Given the description of an element on the screen output the (x, y) to click on. 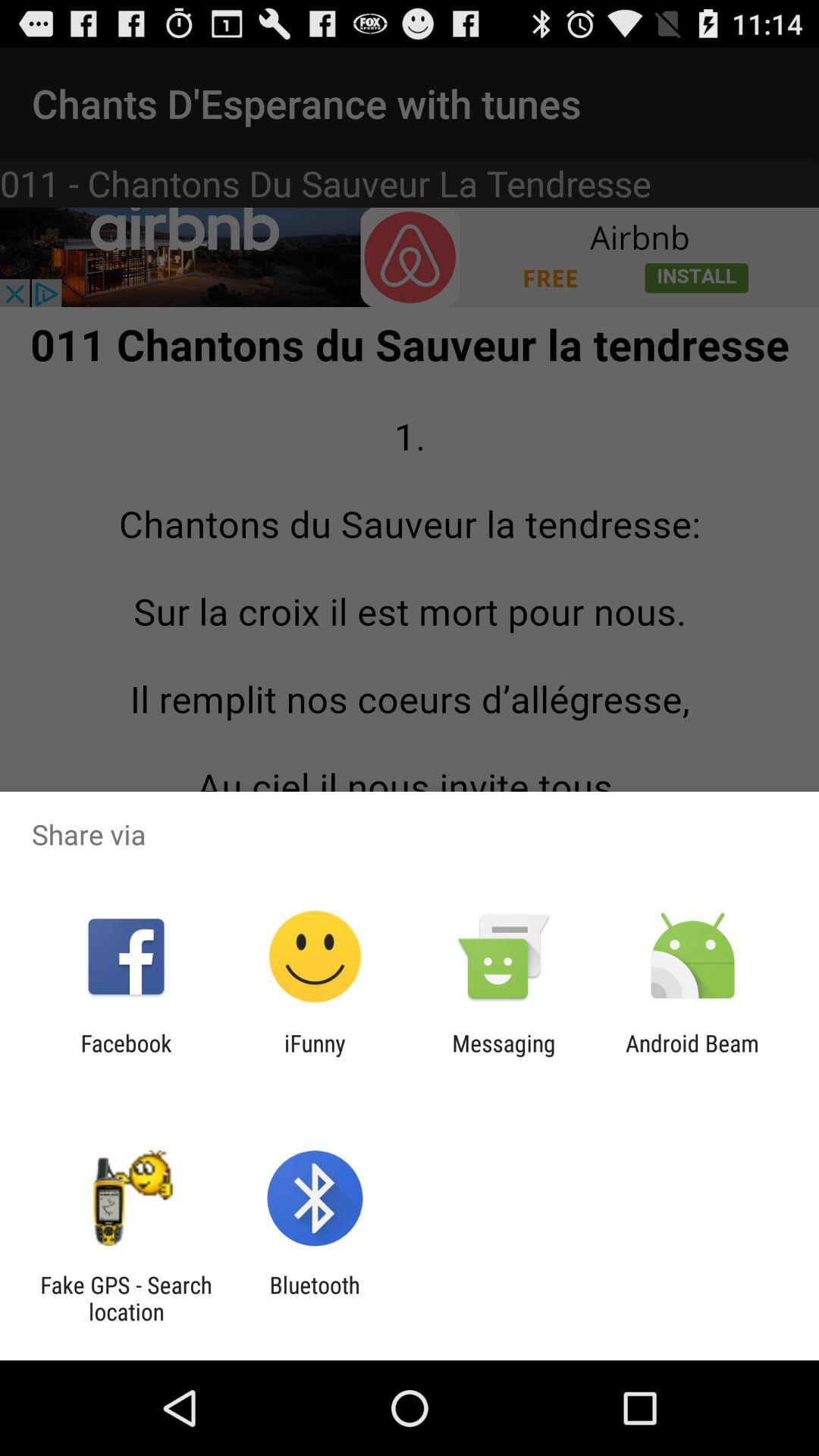
press item next to bluetooth (125, 1298)
